Given the description of an element on the screen output the (x, y) to click on. 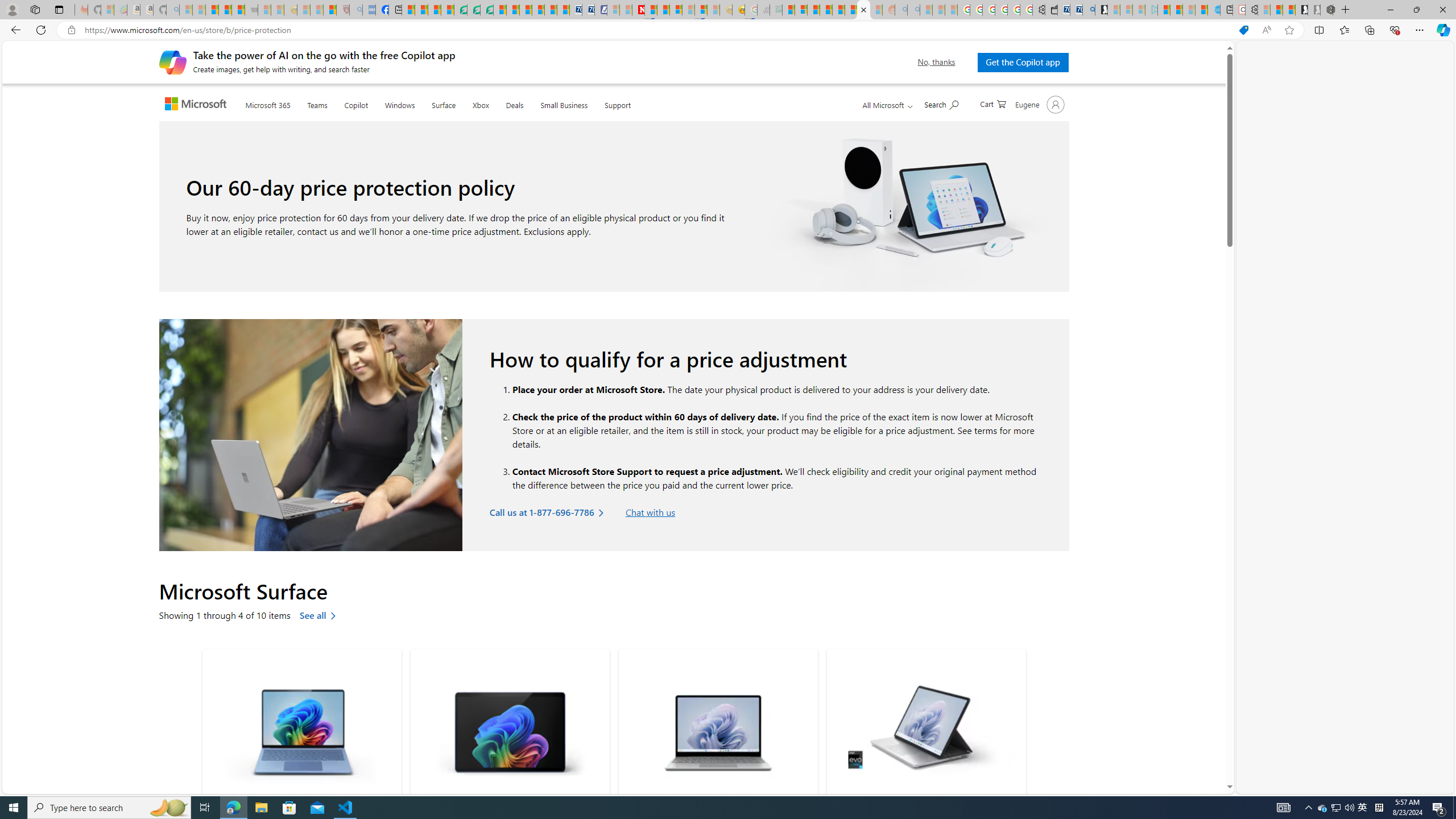
Terms of Use Agreement (473, 9)
Xbox (480, 103)
Deals (514, 103)
